Given the description of an element on the screen output the (x, y) to click on. 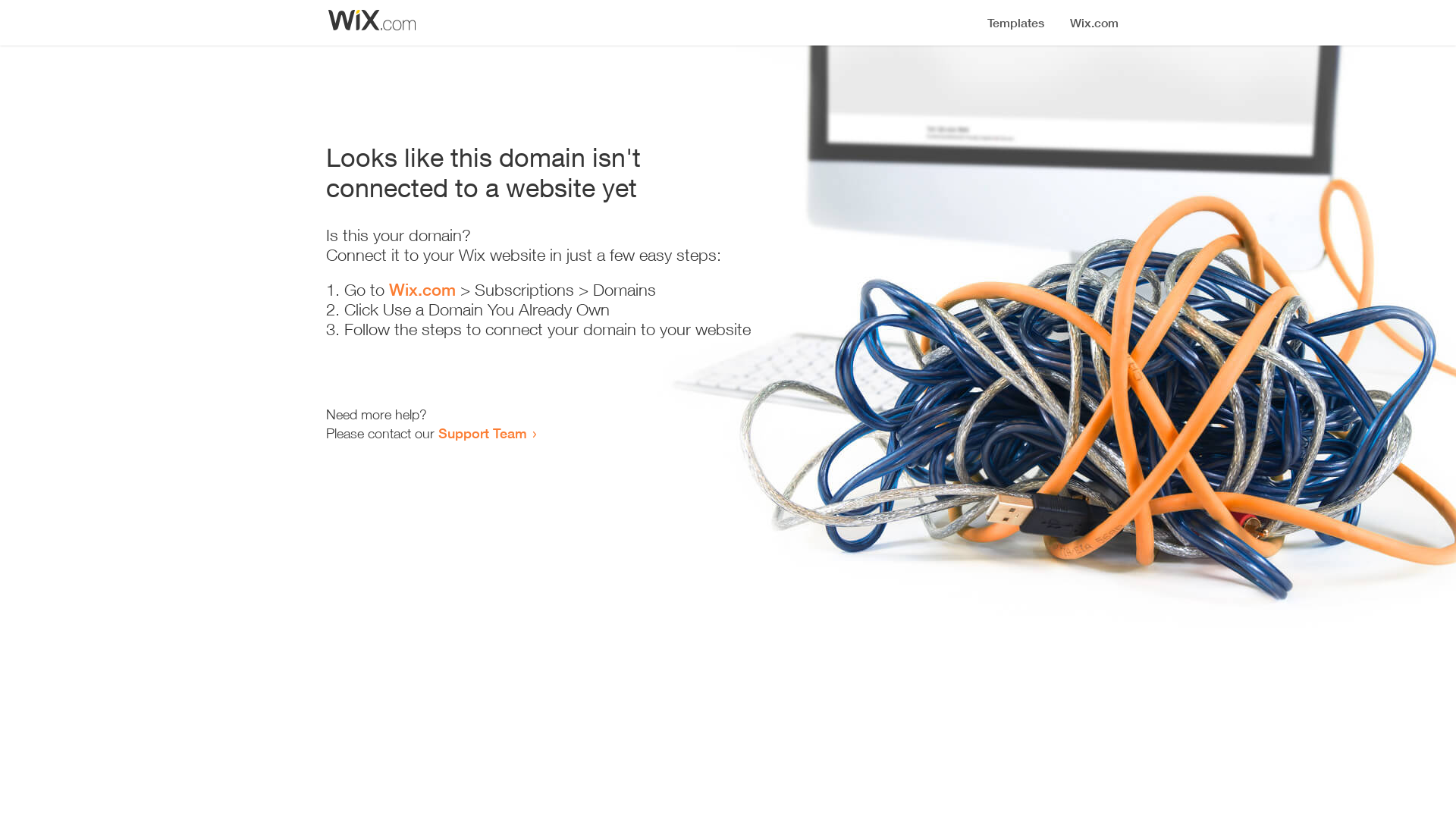
Wix.com Element type: text (422, 289)
Support Team Element type: text (482, 432)
